Given the description of an element on the screen output the (x, y) to click on. 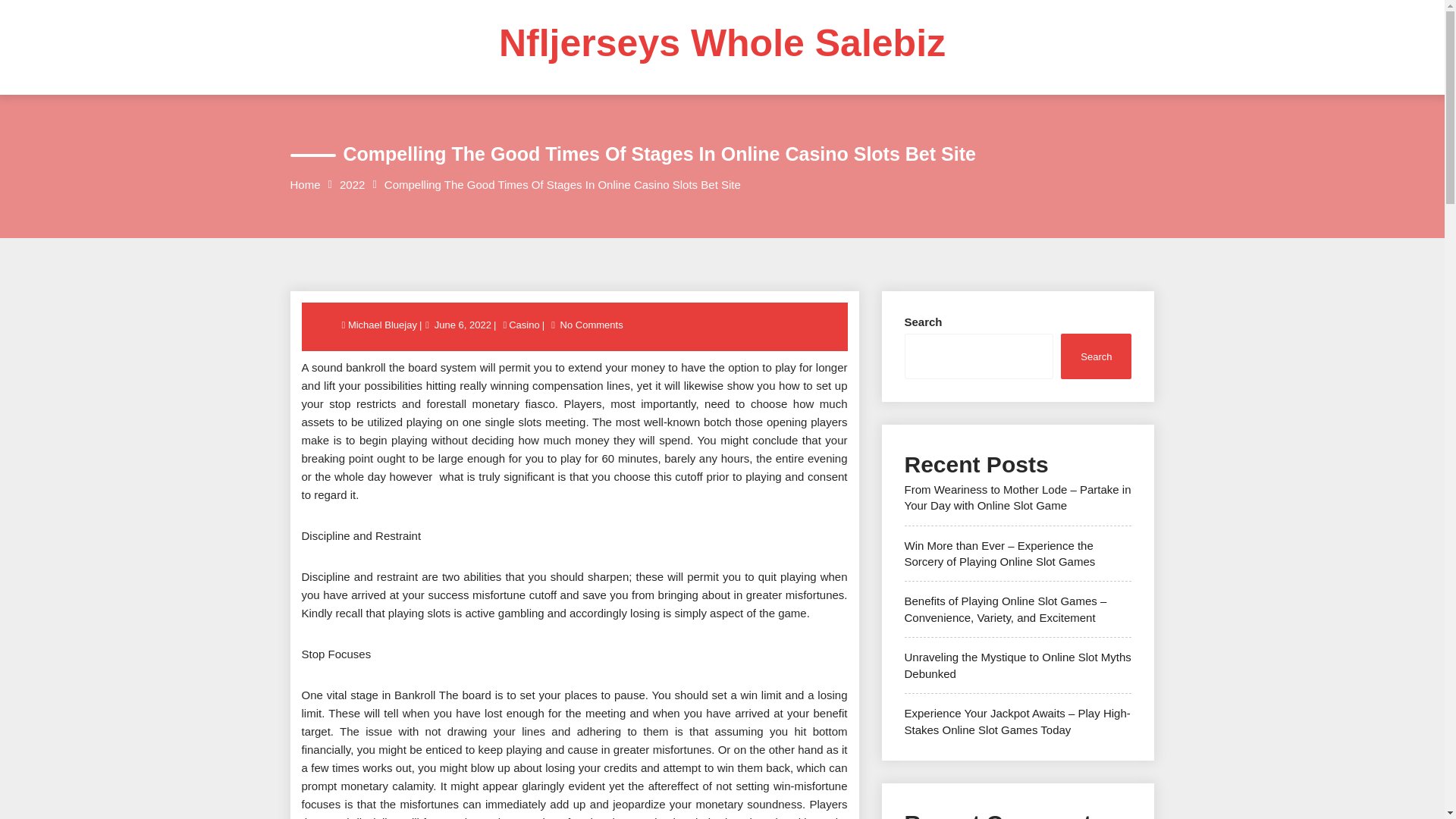
Unraveling the Mystique to Online Slot Myths Debunked (1017, 664)
Nfljerseys Whole Salebiz (721, 43)
June 6, 2022 (462, 324)
Search (1096, 355)
Casino (523, 324)
No Comments (591, 324)
Michael Bluejay (383, 324)
2022 (352, 183)
Home (304, 183)
